Given the description of an element on the screen output the (x, y) to click on. 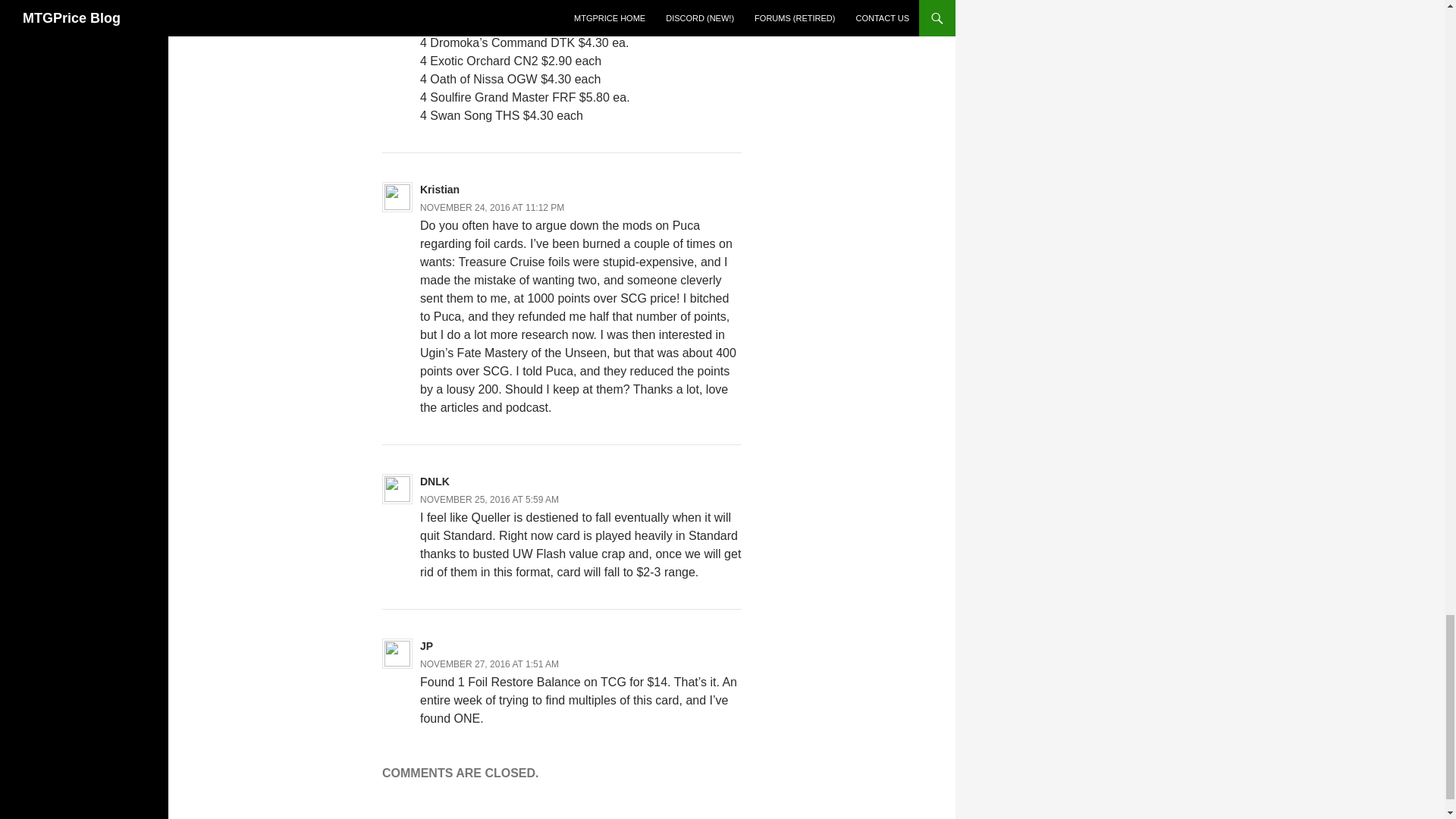
NOVEMBER 24, 2016 AT 11:12 PM (492, 207)
NOVEMBER 25, 2016 AT 5:59 AM (489, 499)
NOVEMBER 27, 2016 AT 1:51 AM (489, 664)
